Given the description of an element on the screen output the (x, y) to click on. 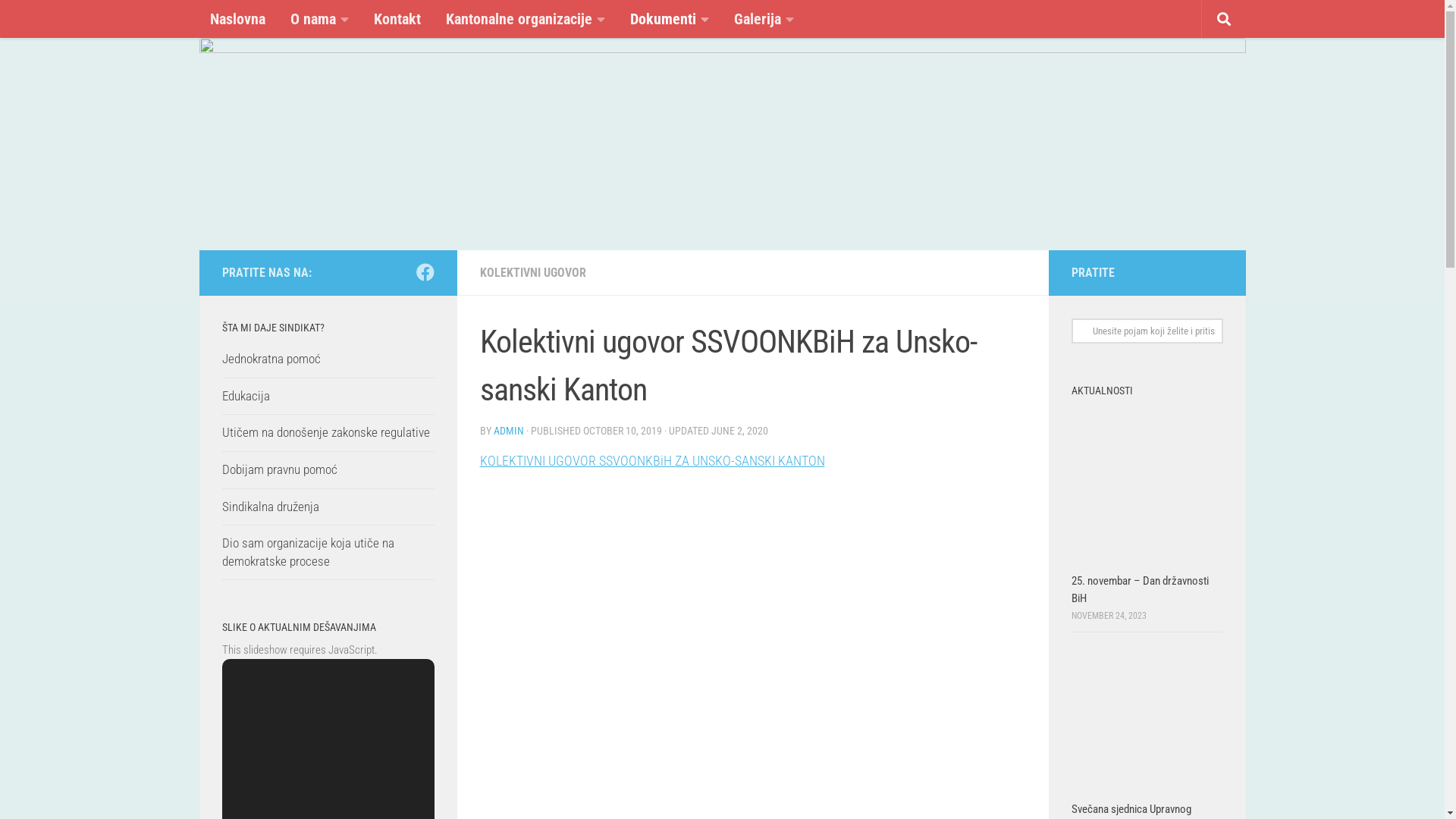
Skip to content Element type: text (57, 21)
Follow us on Facebook Element type: hover (424, 272)
Edukacija Element type: text (245, 395)
Kontakt Element type: text (396, 18)
Dokumenti Element type: text (668, 19)
Galerija Element type: text (763, 19)
KOLEKTIVNI UGOVOR SSVOONKBiH ZA UNSKO-SANSKI KANTON Element type: text (651, 460)
Kantonalne organizacije Element type: text (525, 19)
Naslovna Element type: text (236, 18)
KOLEKTIVNI UGOVOR Element type: text (532, 272)
ADMIN Element type: text (507, 430)
O nama Element type: text (318, 19)
